Given the description of an element on the screen output the (x, y) to click on. 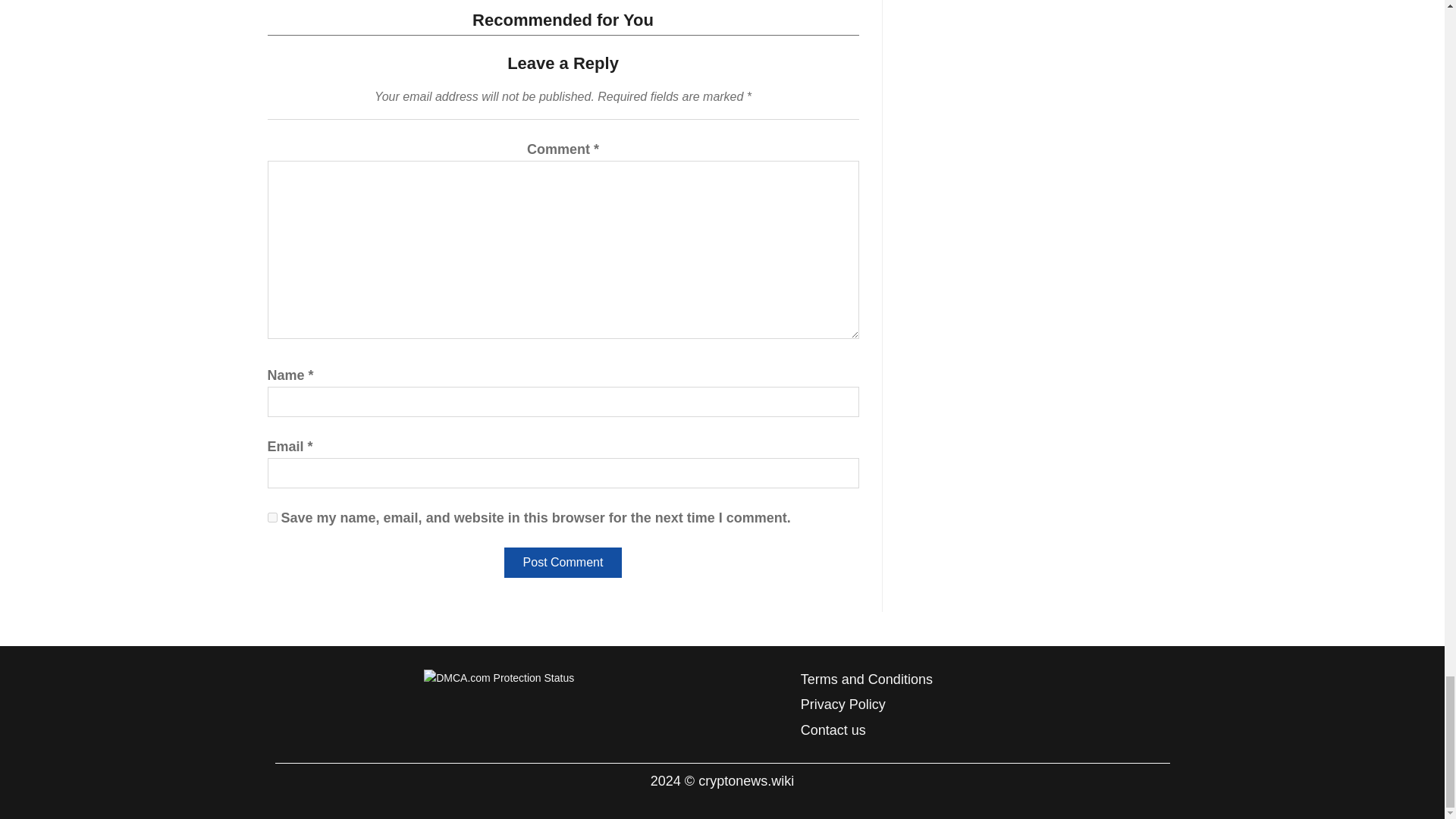
Post Comment (563, 562)
DMCA.com Protection Status (498, 676)
yes (271, 517)
